Given the description of an element on the screen output the (x, y) to click on. 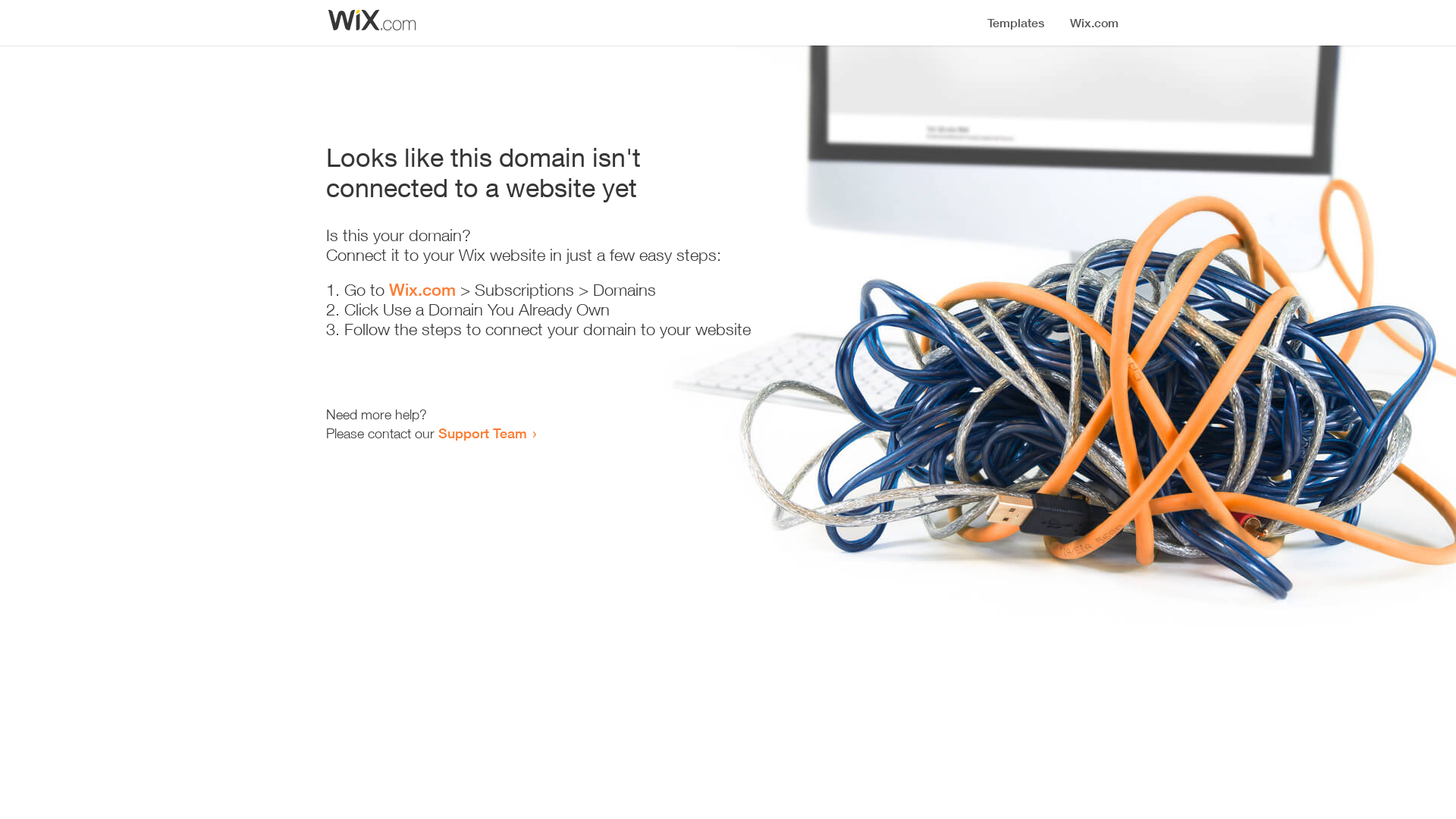
Support Team Element type: text (482, 432)
Wix.com Element type: text (422, 289)
